Given the description of an element on the screen output the (x, y) to click on. 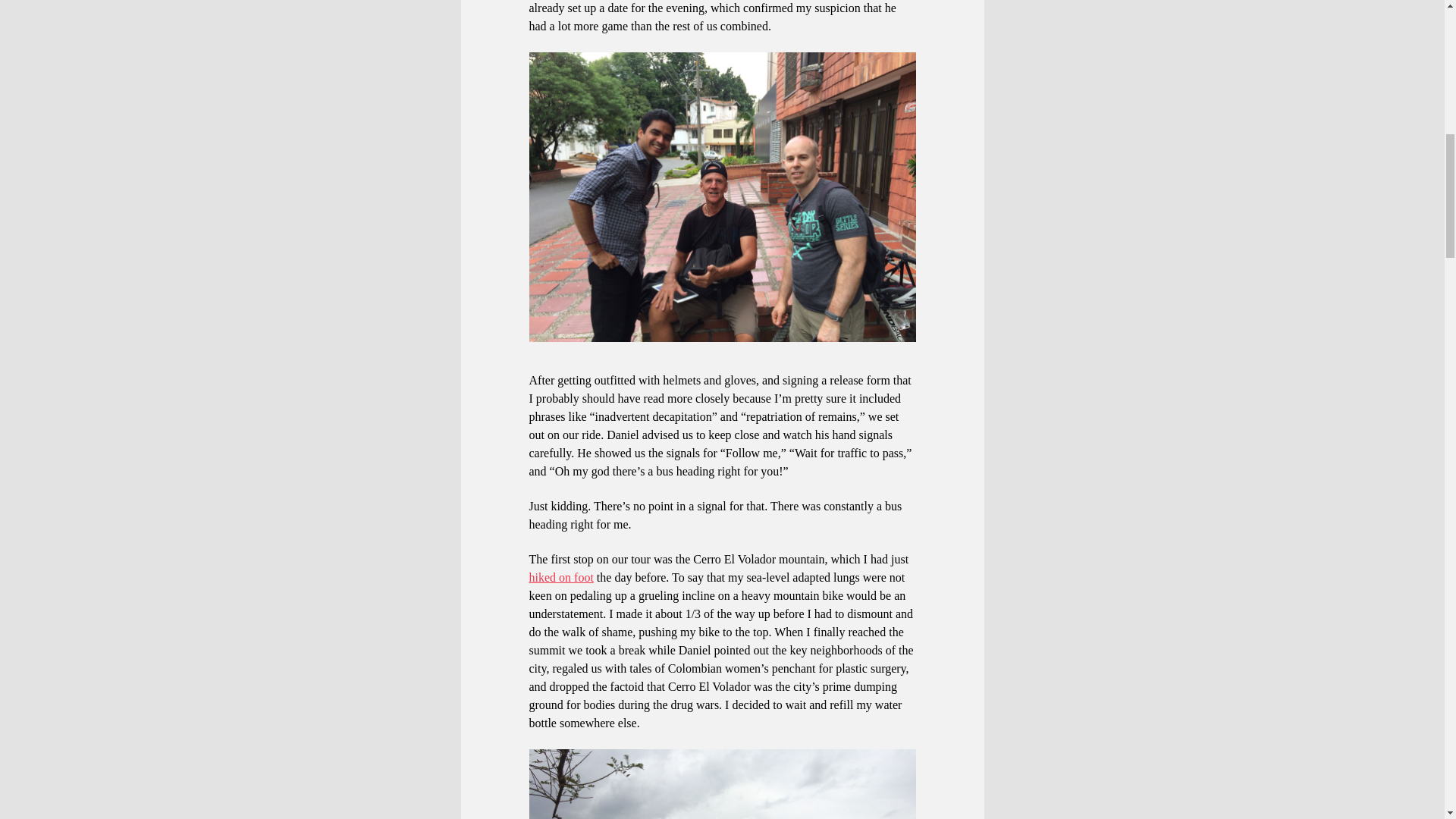
hiked on foot (561, 576)
